Given the description of an element on the screen output the (x, y) to click on. 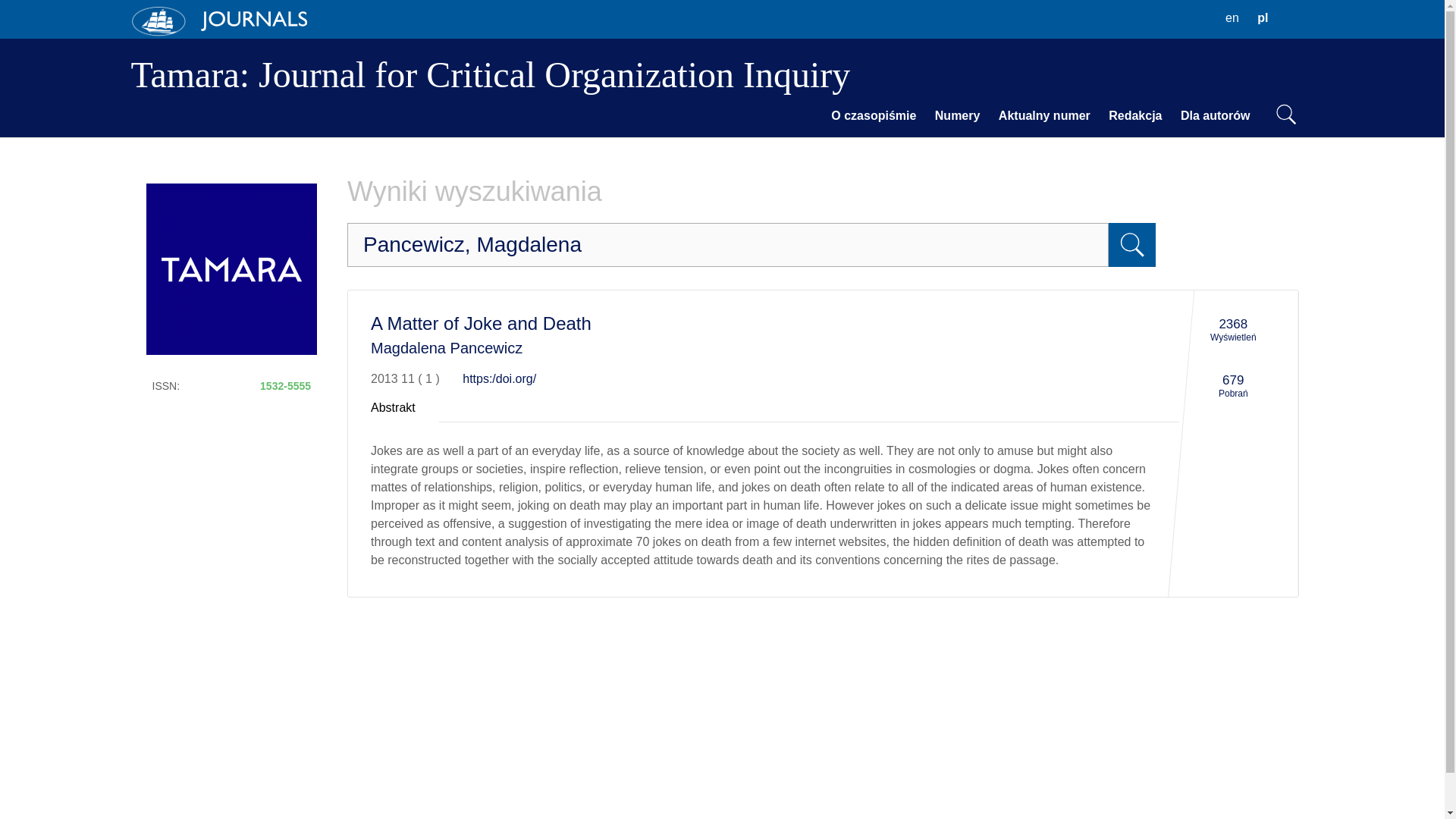
Tamara: Journal for Critical Organization Inquiry (490, 74)
pl (1262, 18)
Pancewicz, Magdalena (727, 244)
en (1231, 18)
A Matter of Joke and Death (481, 322)
Redakcja (1134, 115)
Numery (957, 115)
Aktualny numer (1044, 115)
